Given the description of an element on the screen output the (x, y) to click on. 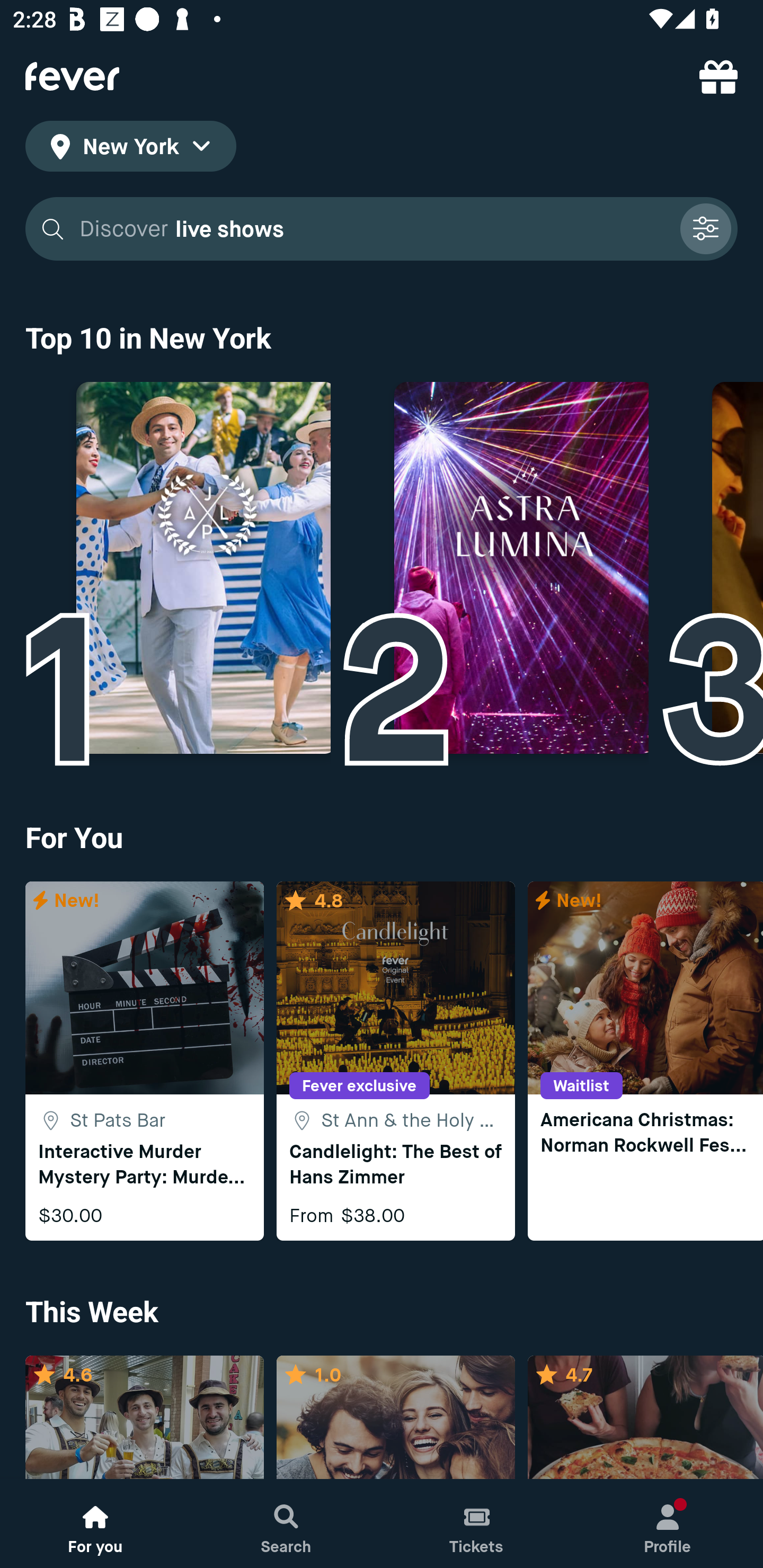
referral (718, 75)
location icon New York location icon (130, 149)
Discover live shows (381, 228)
Discover live shows (373, 228)
cover image 50.0 4.6 (144, 1417)
cover image 50.0 1.0 (395, 1417)
cover image 50.0 4.7 (645, 1417)
Search (285, 1523)
Tickets (476, 1523)
Profile, New notification Profile (667, 1523)
